Given the description of an element on the screen output the (x, y) to click on. 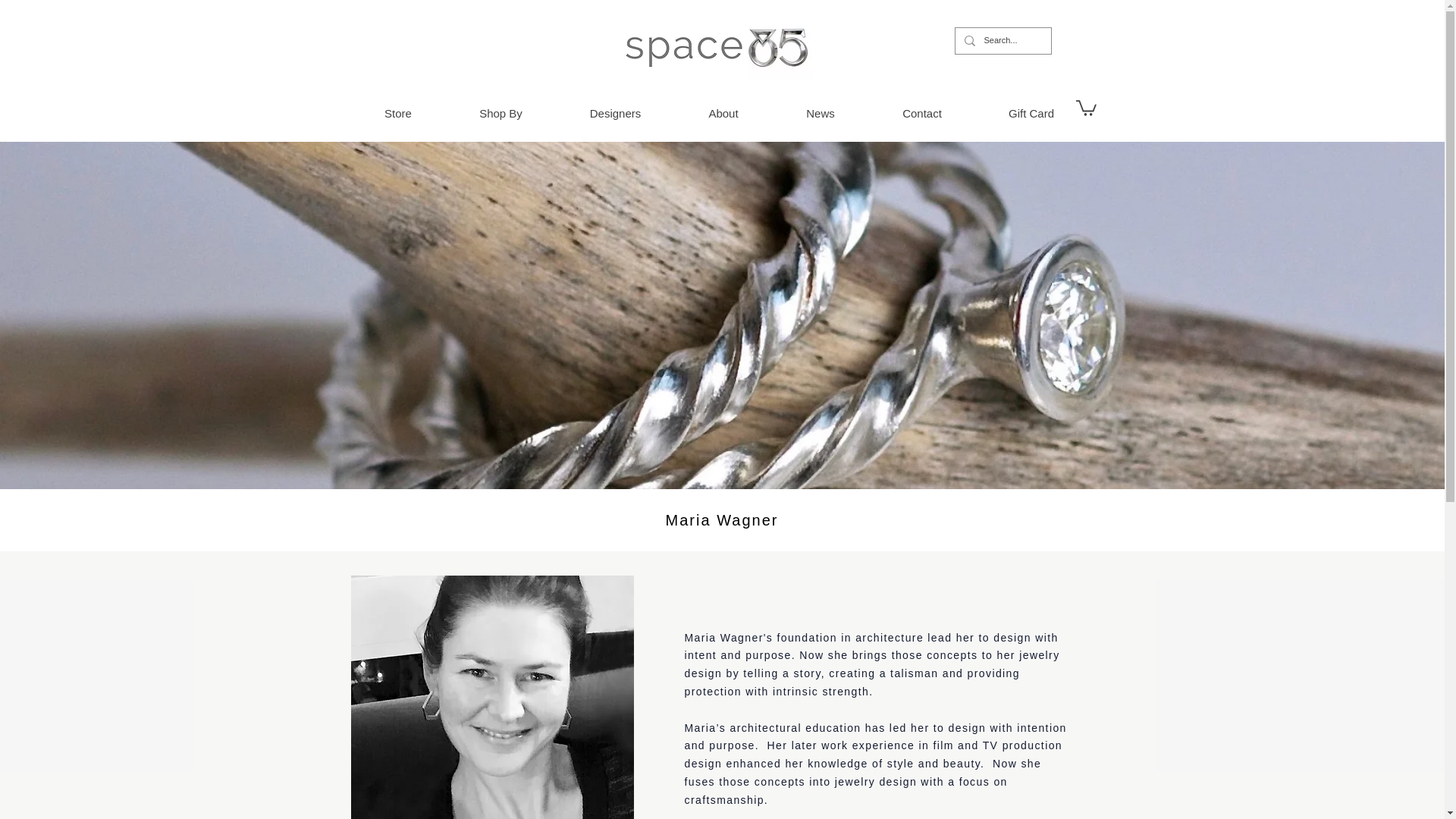
About (724, 113)
Store (397, 113)
Gift Card (1030, 113)
Designers (615, 113)
Contact (922, 113)
